Given the description of an element on the screen output the (x, y) to click on. 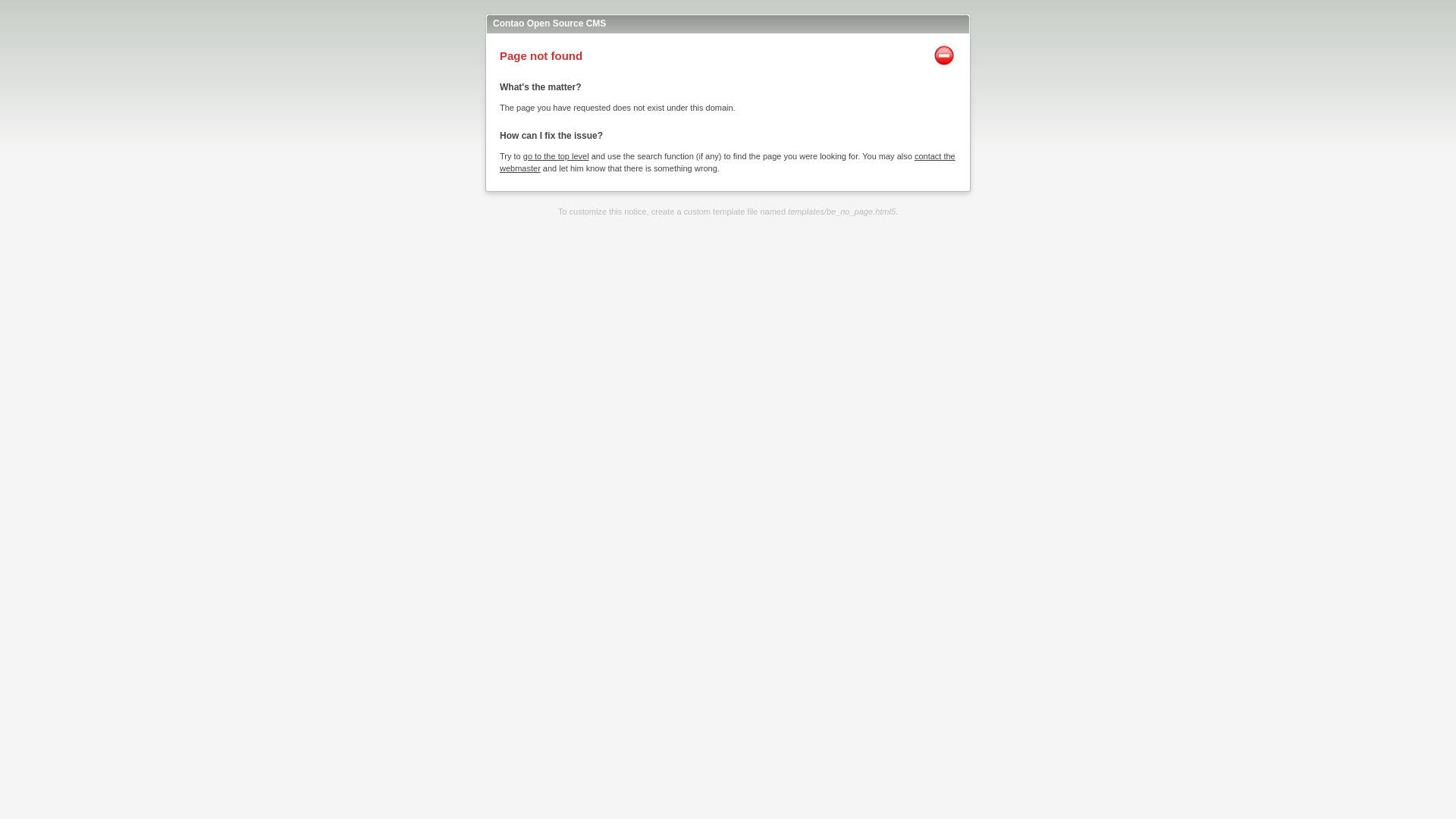
contact the webmaster Element type: text (727, 162)
go to the top level Element type: text (556, 155)
